Given the description of an element on the screen output the (x, y) to click on. 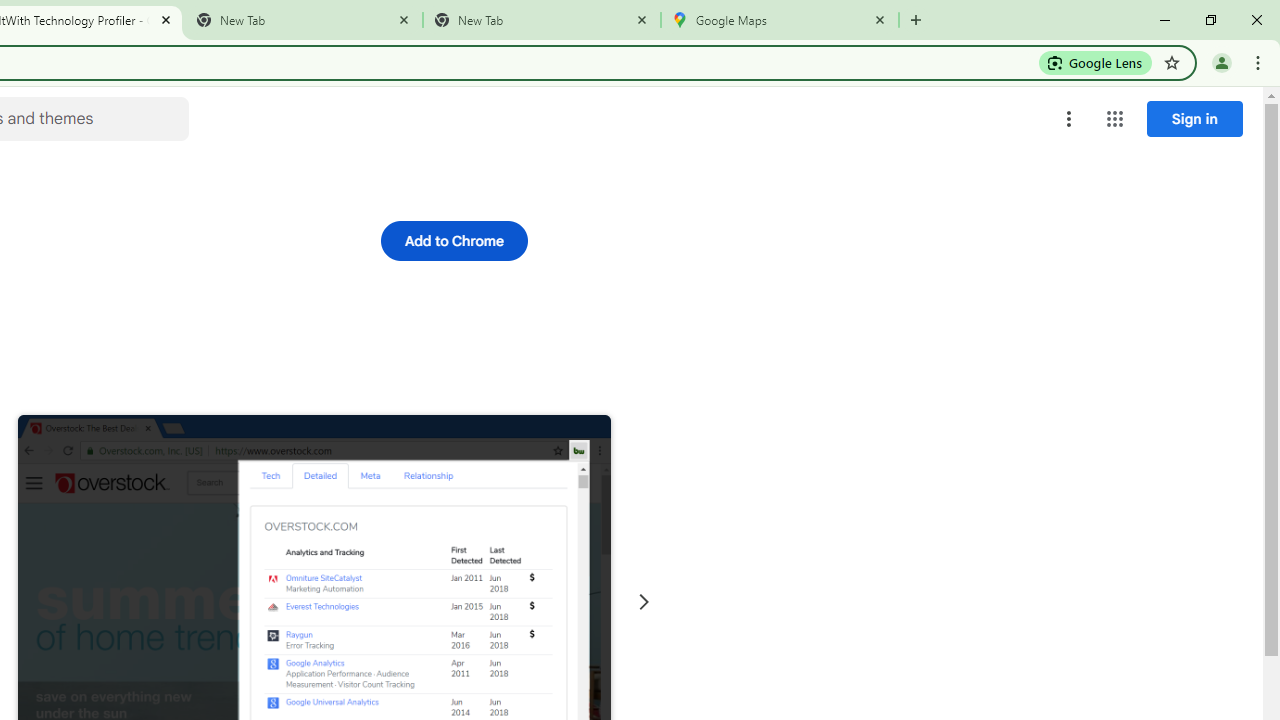
More options menu (1069, 118)
